Given the description of an element on the screen output the (x, y) to click on. 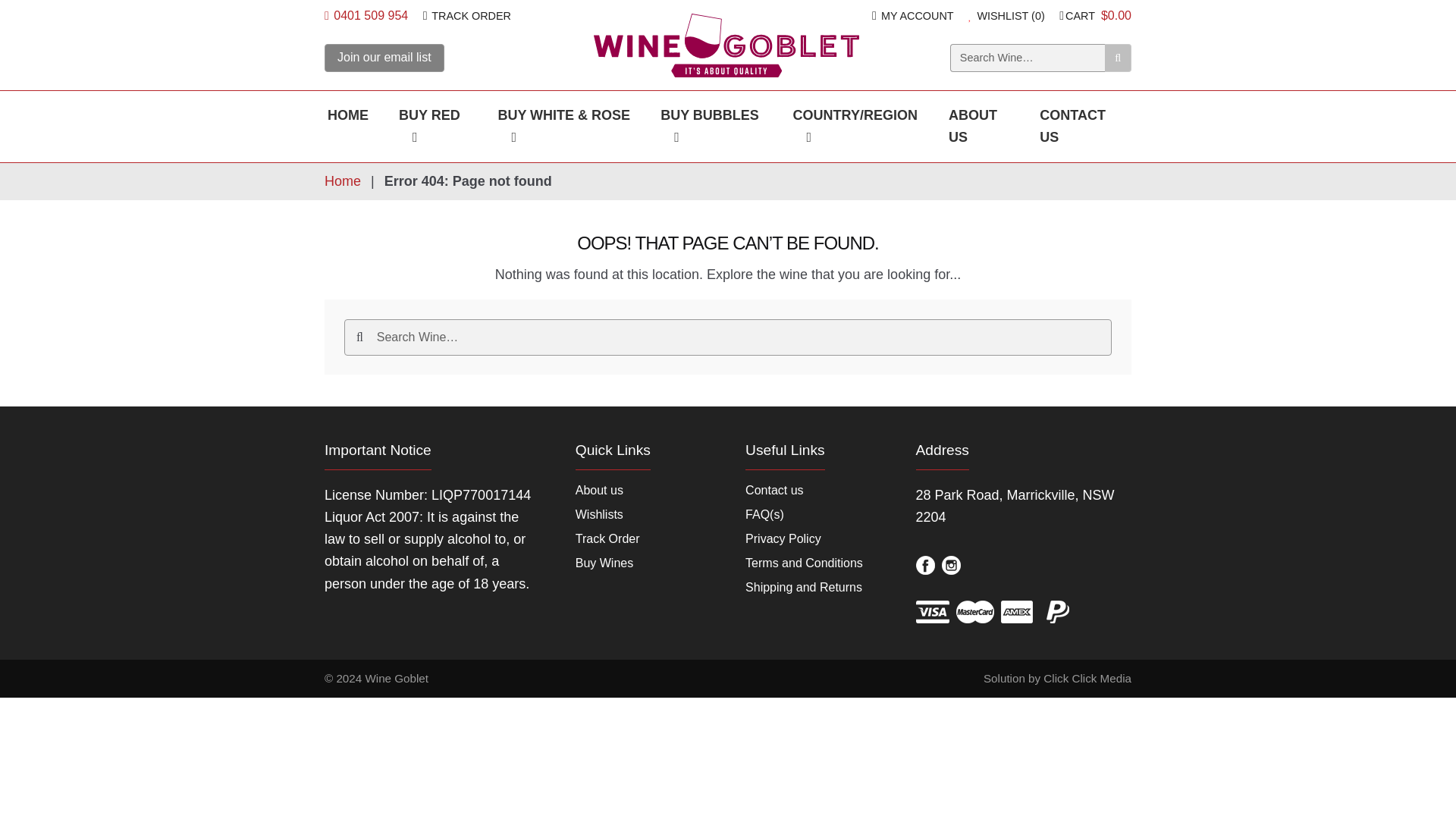
TRACK ORDER (467, 15)
MY ACCOUNT (912, 15)
0401 509 954 (365, 15)
Search (1118, 58)
Follow us on Instagram (951, 565)
BUY BUBBLES (711, 126)
BUY RED (432, 126)
Join our email list (384, 58)
View your shopping cart (1095, 15)
Like us on Facebook (924, 565)
HOME (348, 115)
